Given the description of an element on the screen output the (x, y) to click on. 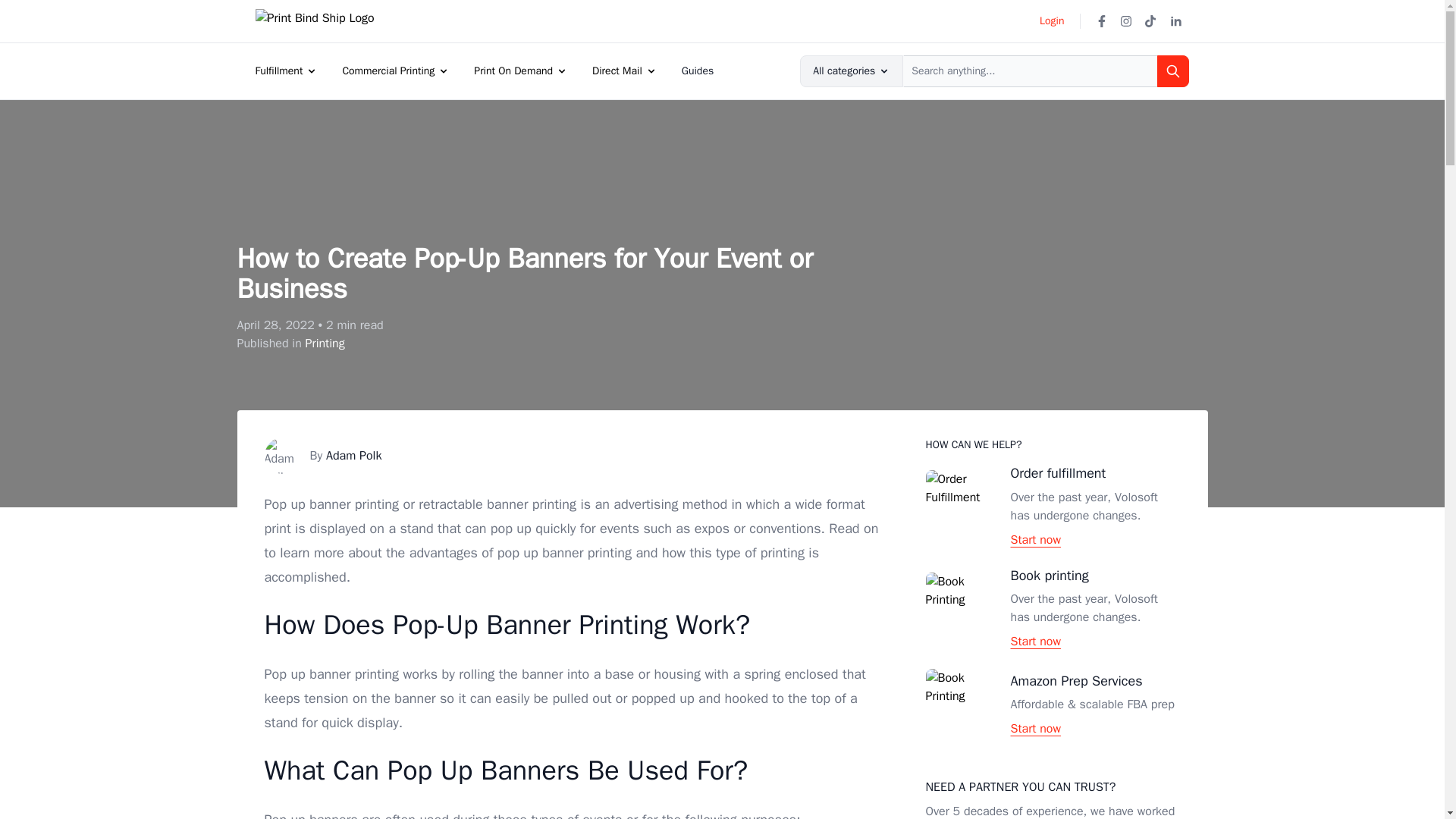
Guides (697, 70)
Direct Mail (617, 70)
Fulfillment (278, 70)
Commercial Printing (387, 70)
Login (1051, 20)
All categories (850, 70)
Print On Demand (513, 70)
August 3rd, 2022 (308, 324)
